Given the description of an element on the screen output the (x, y) to click on. 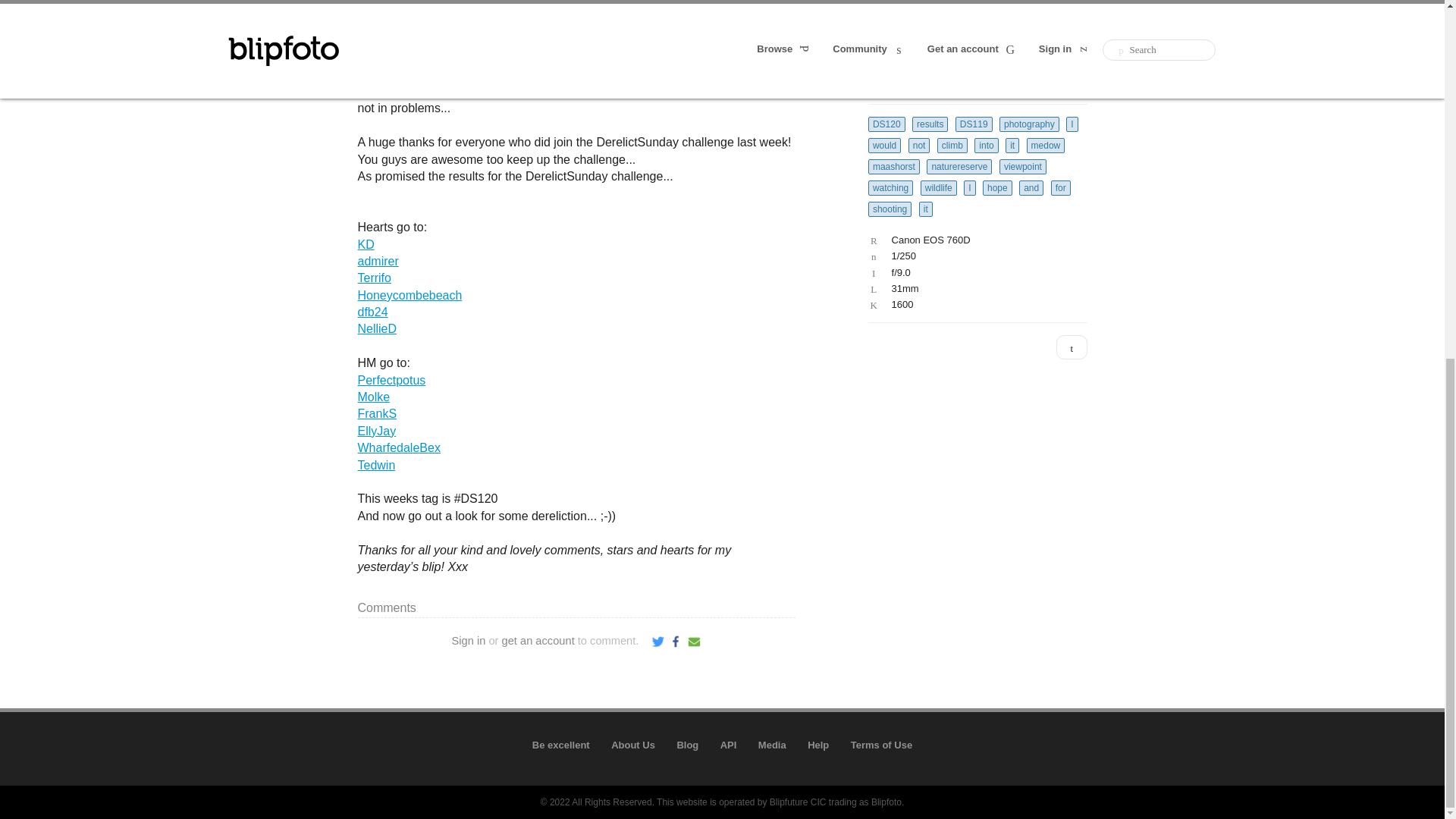
KD (366, 244)
Tedwin (377, 464)
ISO (973, 304)
DS120 (886, 124)
WharfedaleBex (399, 447)
NellieD (377, 328)
Show large (1072, 78)
results (929, 124)
dfb24 (373, 311)
F-Stop (973, 272)
Focal length (973, 288)
Camera (973, 240)
View map (1072, 346)
EllyJay (377, 431)
admirer (378, 260)
